Given the description of an element on the screen output the (x, y) to click on. 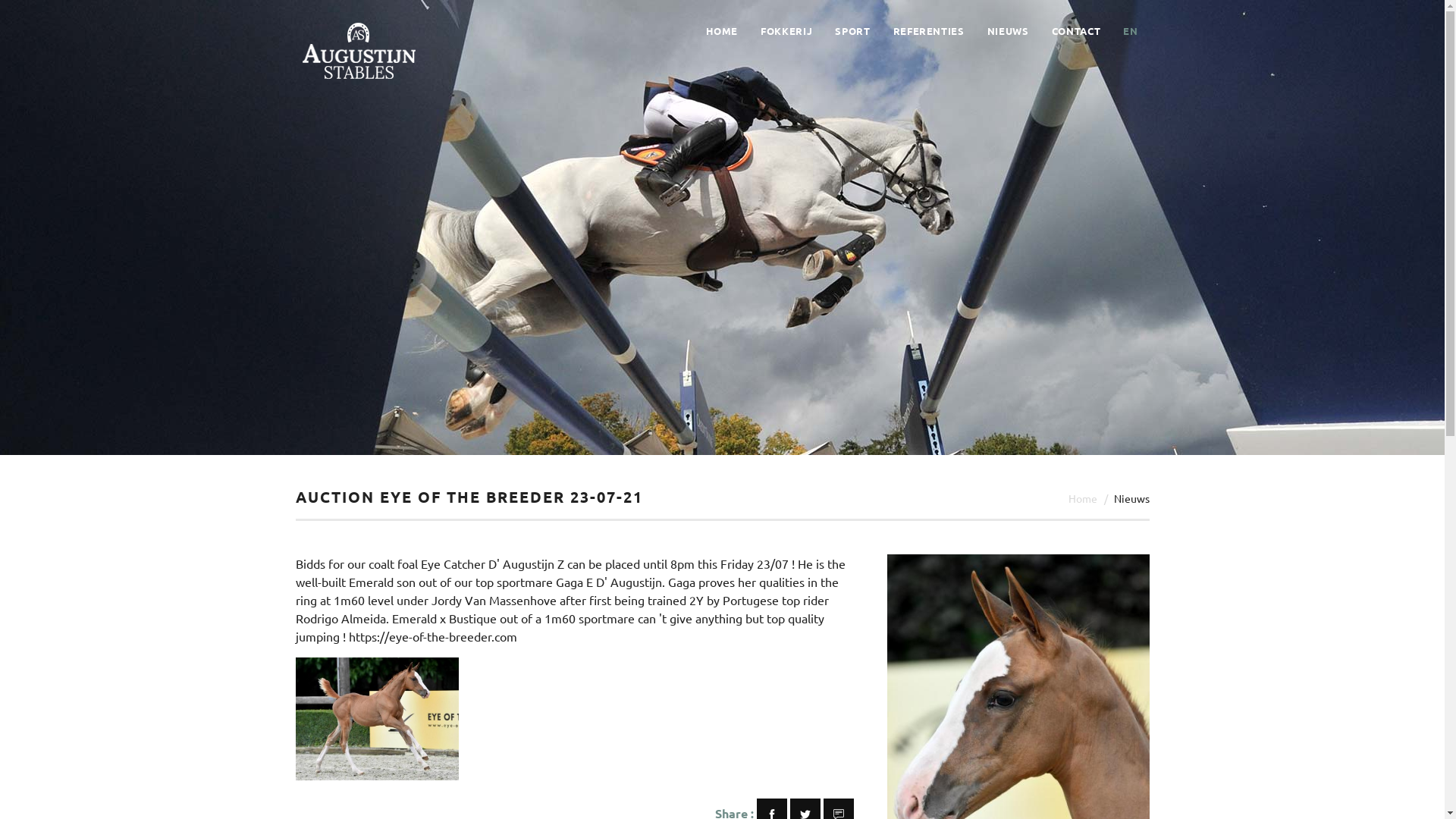
FOKKERIJ Element type: text (786, 31)
Home Element type: text (1081, 498)
info@augustijnstables.com Element type: text (888, 687)
REFERENTIES Element type: text (928, 31)
NIEUWS Element type: text (1008, 31)
EN Element type: text (1130, 31)
CONTACT Element type: text (1076, 31)
WEBSITE BY PWEB Element type: text (838, 794)
SPORT Element type: text (851, 31)
HOME Element type: text (721, 31)
